Given the description of an element on the screen output the (x, y) to click on. 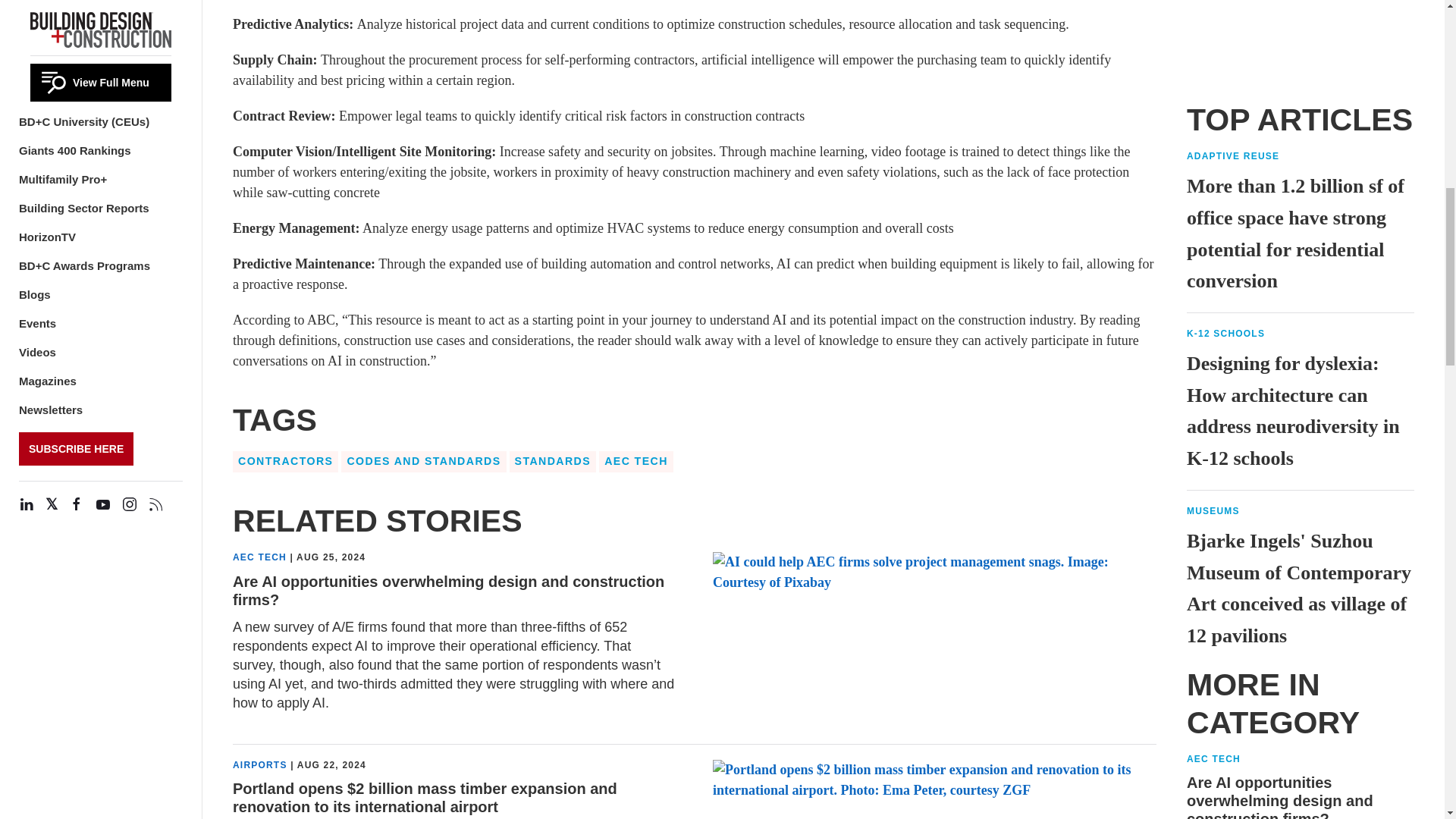
STANDARDS (552, 461)
AEC TECH (259, 557)
AEC TECH (635, 461)
CODES AND STANDARDS (422, 461)
CONTRACTORS (284, 461)
AIRPORTS (259, 765)
